Given the description of an element on the screen output the (x, y) to click on. 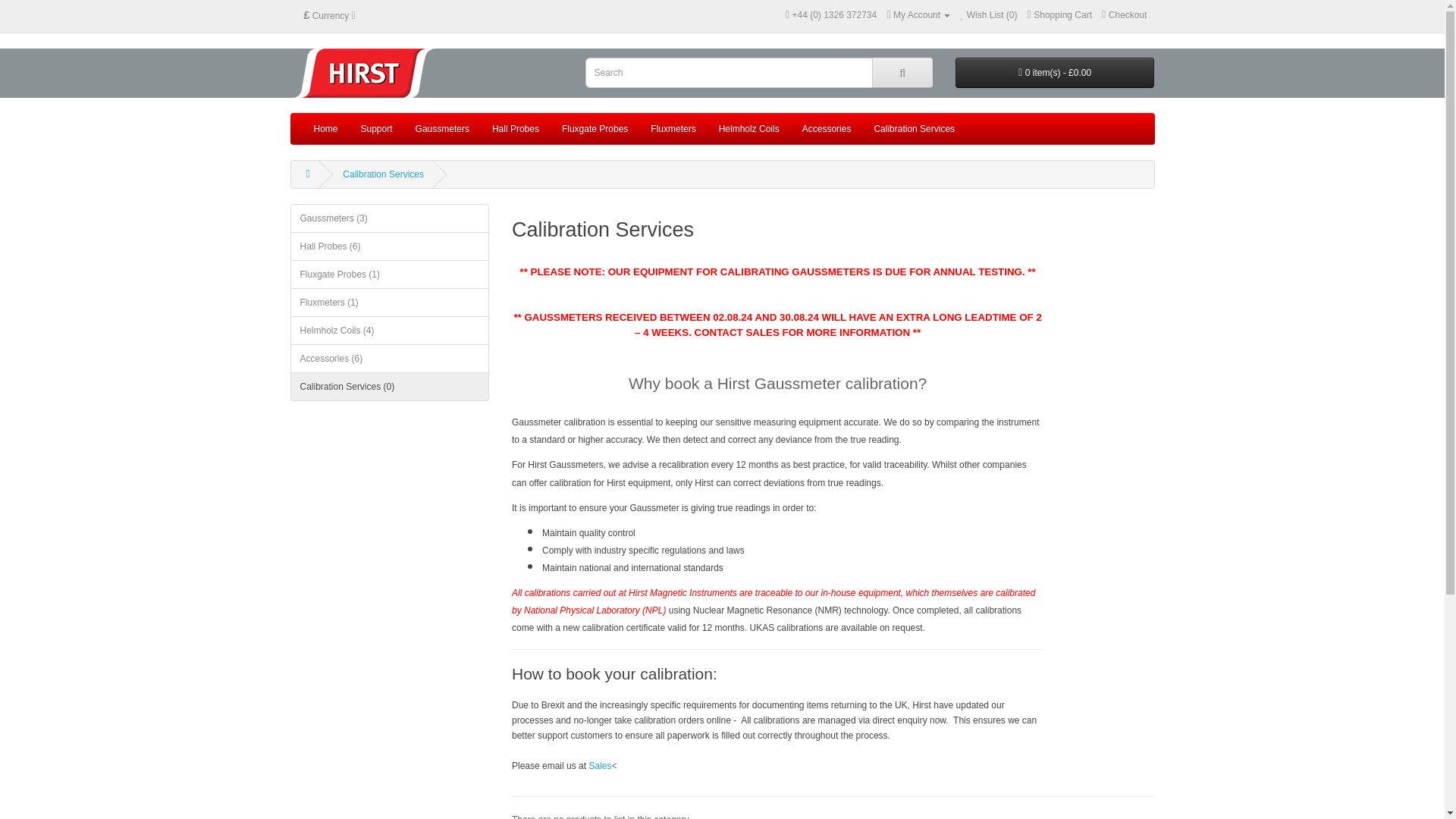
Checkout (1124, 14)
Shopping Cart (1059, 14)
Shopping Cart (1059, 14)
My Account (918, 14)
Gaussmeters by Hirst Magnetic Instruments (363, 72)
Checkout (1124, 14)
Hall Probes (515, 128)
Fluxgate Probes (594, 128)
Calibration Services (382, 173)
Calibration Services (913, 128)
